Given the description of an element on the screen output the (x, y) to click on. 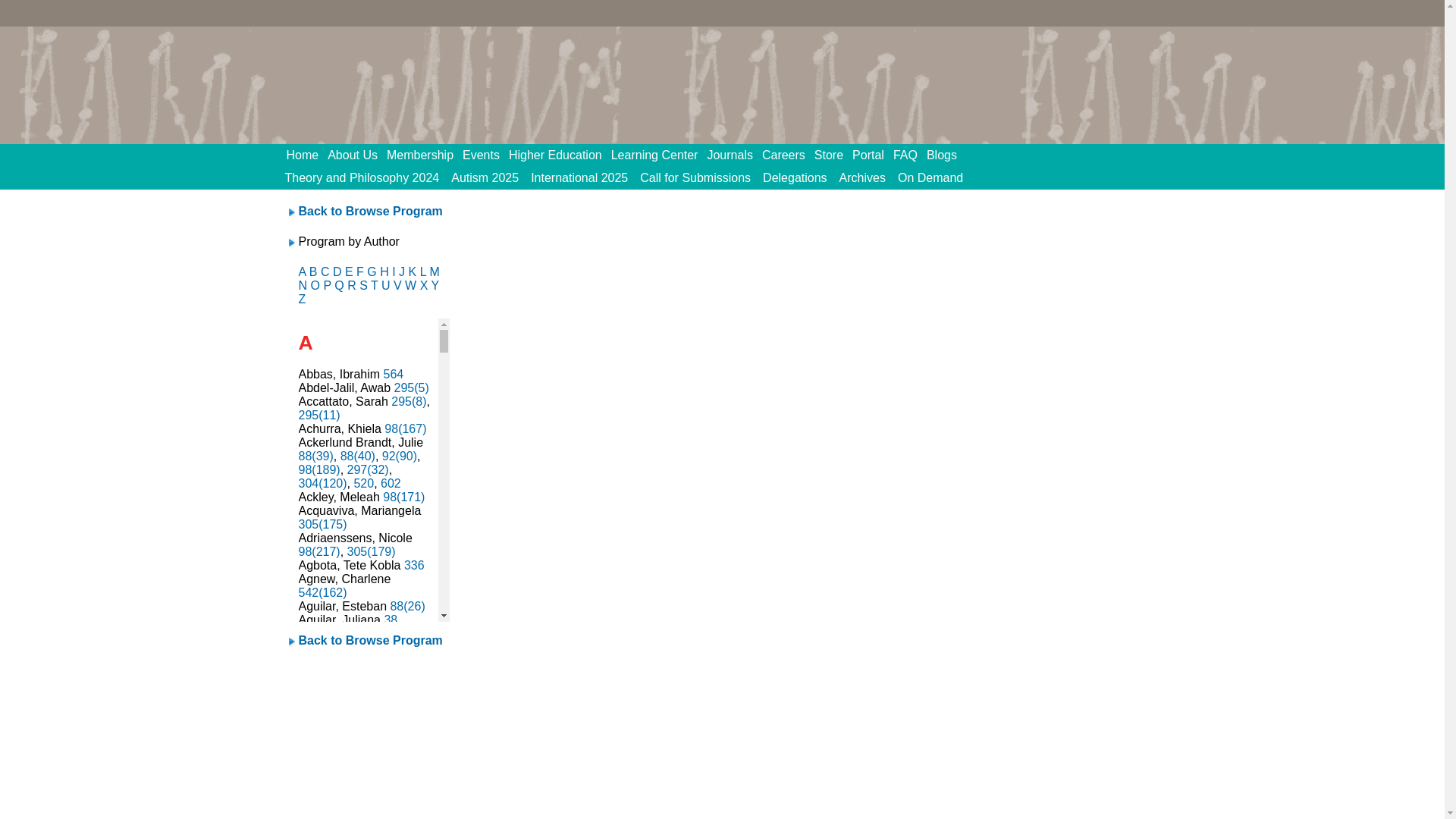
Journals (733, 155)
About Us (357, 155)
FAQ (909, 155)
Autism 2025 (484, 178)
Back to Browse Program (370, 210)
Store (832, 155)
Theory and Philosophy 2024 (362, 178)
Call for Submissions (695, 178)
Portal (872, 155)
Blogs (946, 155)
